Given the description of an element on the screen output the (x, y) to click on. 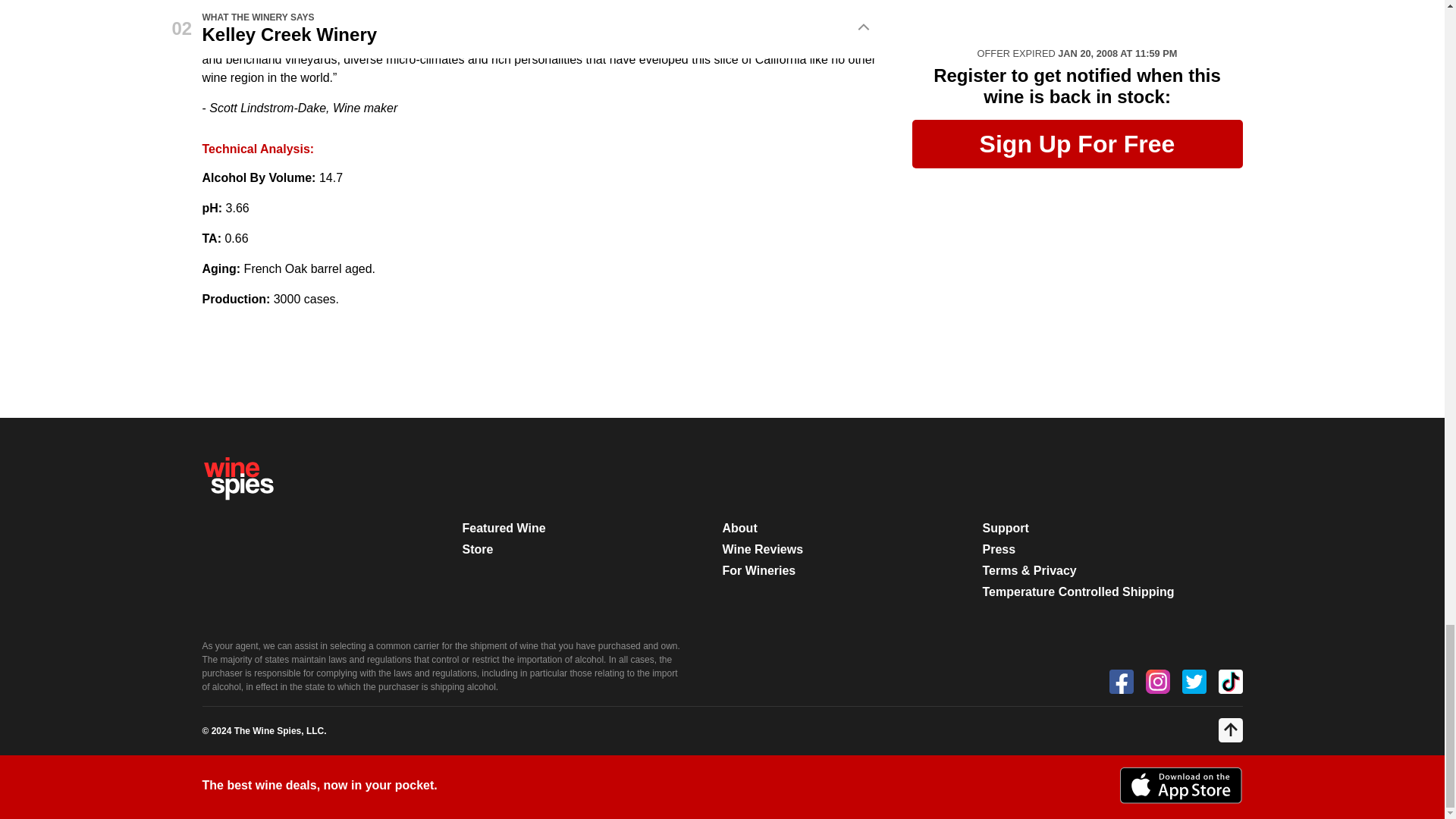
Support (1005, 527)
Press (999, 549)
Store (478, 549)
For Wineries (758, 570)
Temperature Controlled Shipping (1078, 591)
Featured Wine (504, 527)
Wine Reviews (762, 549)
About (739, 527)
